Given the description of an element on the screen output the (x, y) to click on. 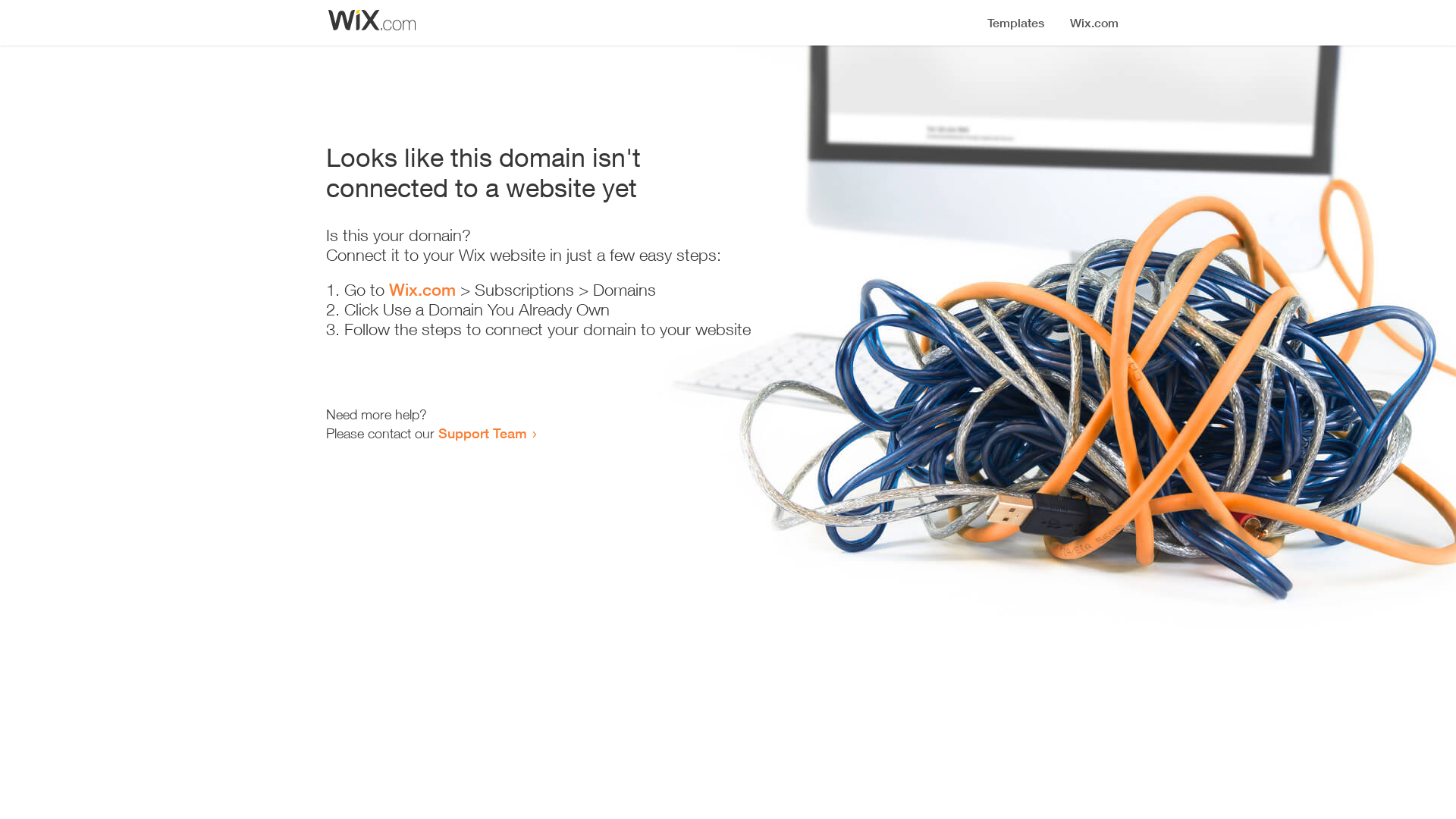
Support Team Element type: text (482, 432)
Wix.com Element type: text (422, 289)
